Given the description of an element on the screen output the (x, y) to click on. 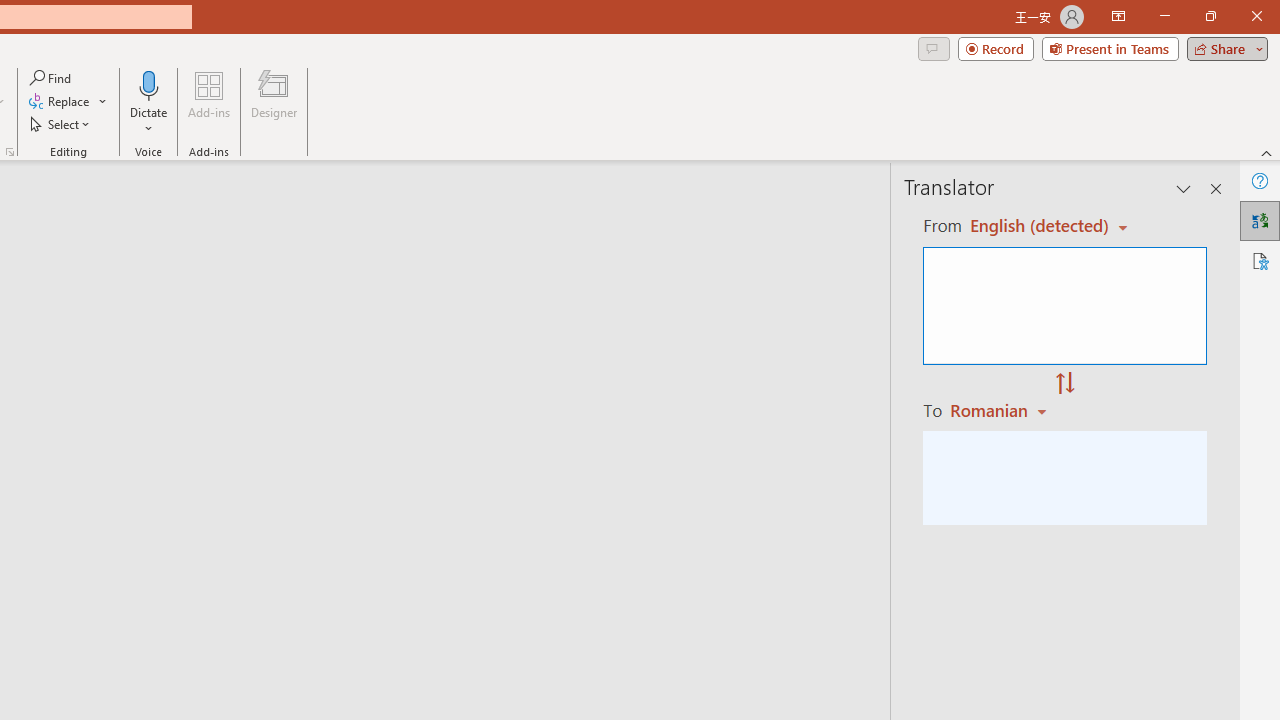
Swap "from" and "to" languages. (1065, 383)
Czech (detected) (1039, 225)
